Given the description of an element on the screen output the (x, y) to click on. 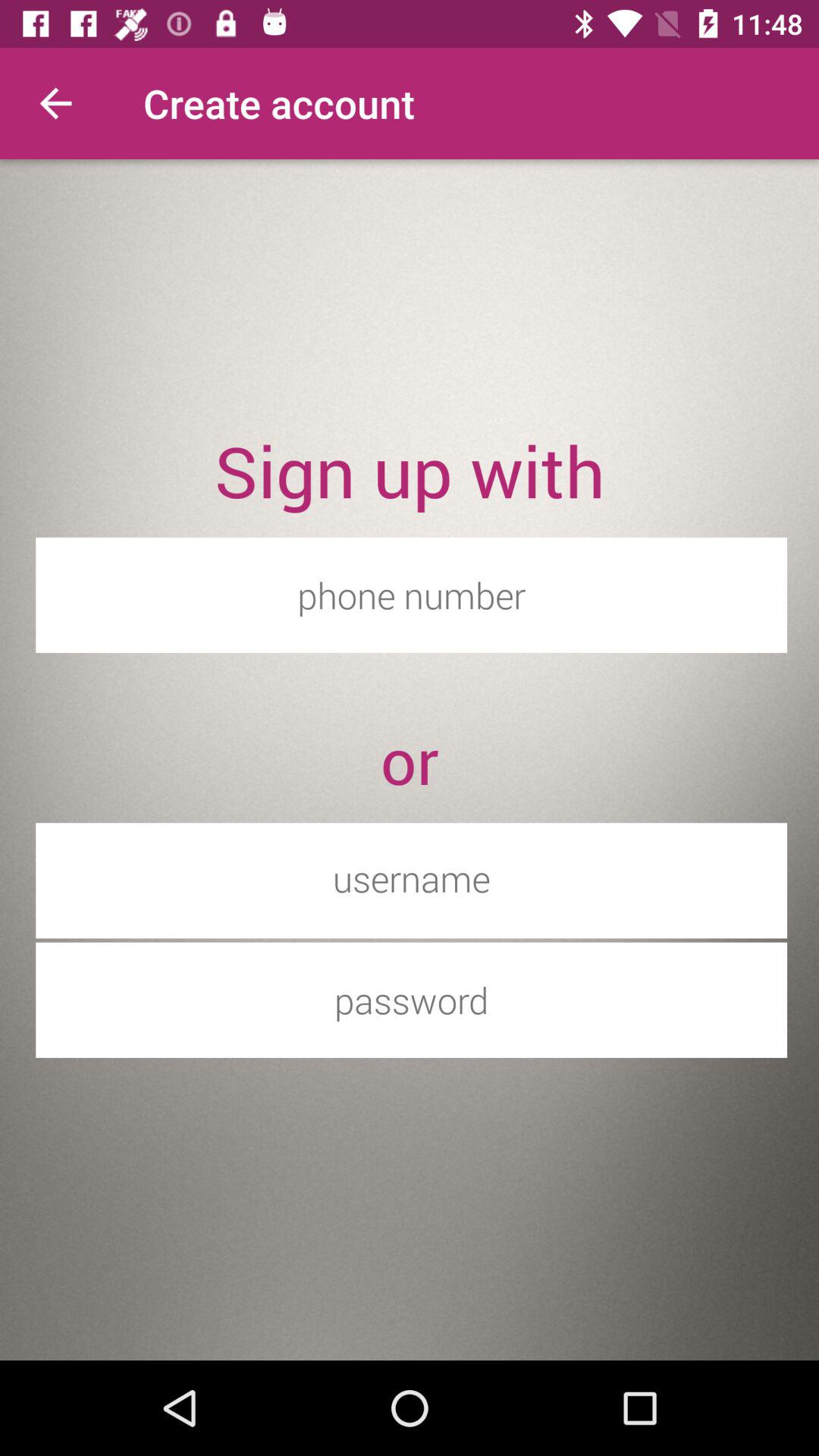
select the item above the sign up with item (55, 103)
